Given the description of an element on the screen output the (x, y) to click on. 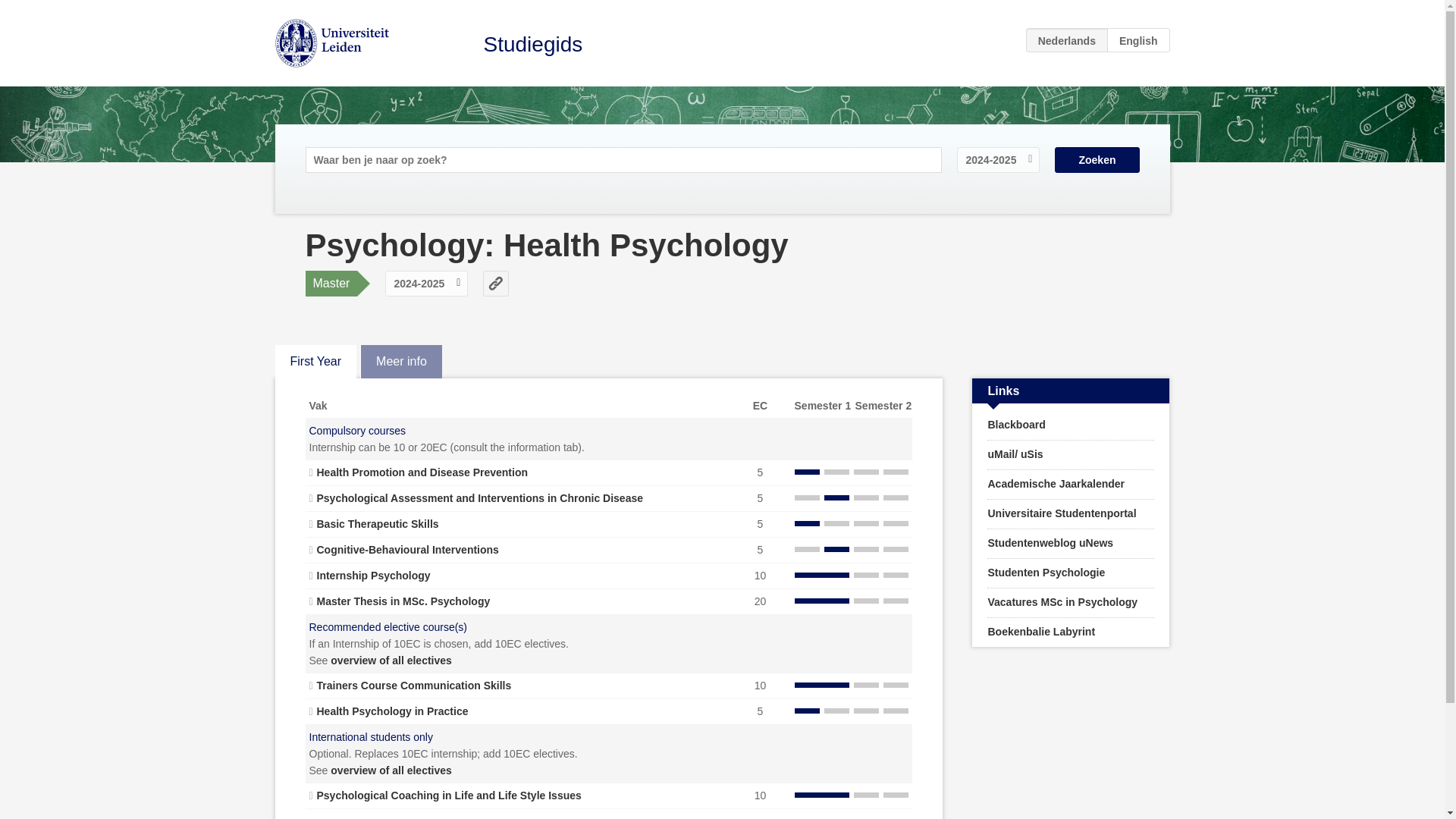
Boekenbalie Labyrint (1070, 632)
overview of all electives (390, 770)
Vacatures MSc in Psychology (1070, 602)
Master Thesis in MSc. Psychology (403, 601)
Psychological Coaching in Life and Life Style Issues (448, 795)
Cognitive-Behavioural Interventions (408, 549)
EN (1138, 39)
First Year (315, 361)
Studenten Psychologie (1070, 573)
Studentenweblog uNews (1070, 543)
Studiegids (533, 44)
Zoeken (1096, 159)
Universitaire Studentenportal (1070, 513)
Trainers Course Communication Skills (414, 685)
